Given the description of an element on the screen output the (x, y) to click on. 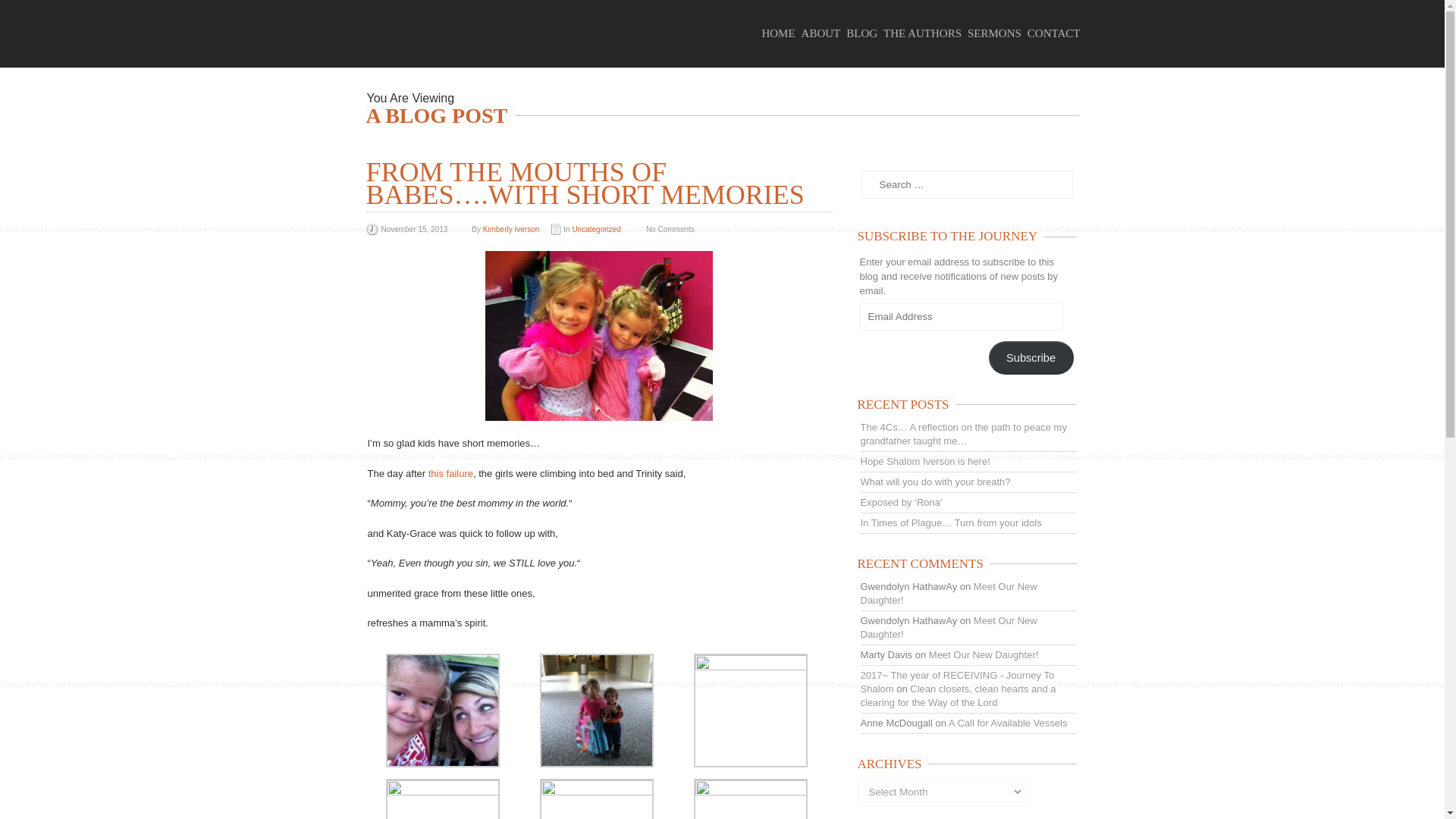
Uncategorized (596, 229)
Posts by Kimberly Iverson (510, 229)
ABOUT (824, 33)
BLOG (864, 33)
this failure (450, 472)
HOME (780, 33)
CONTACT (1056, 33)
SERMONS (997, 33)
THE AUTHORS (925, 33)
Kimberly Iverson (510, 229)
